Given the description of an element on the screen output the (x, y) to click on. 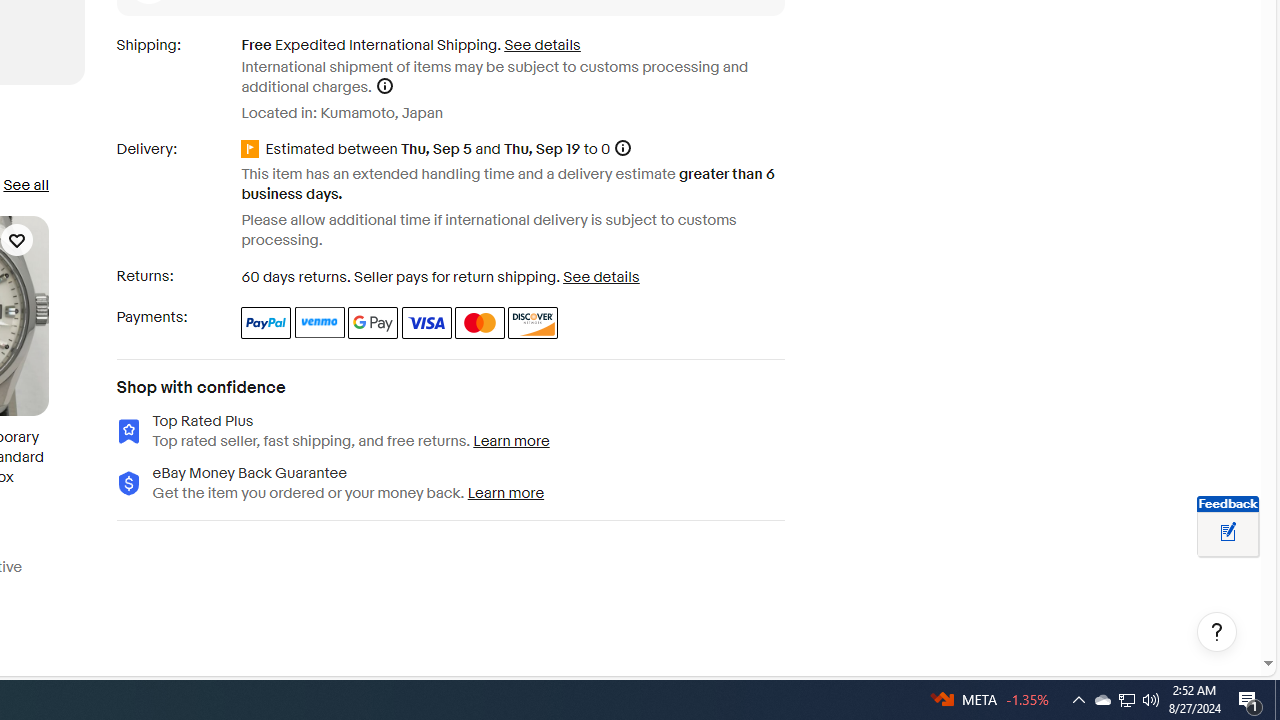
Google Pay (373, 322)
